Given the description of an element on the screen output the (x, y) to click on. 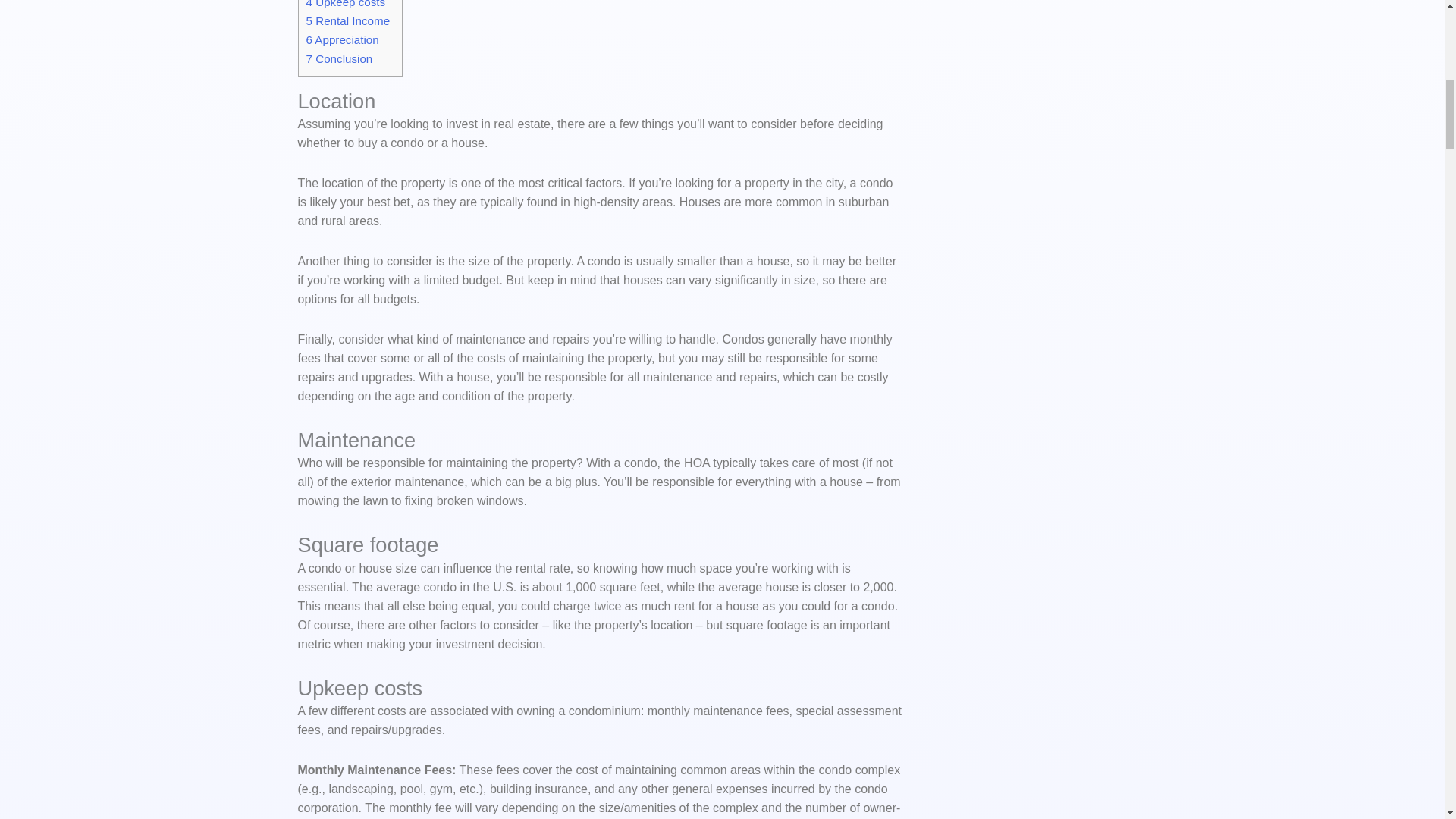
6 Appreciation (341, 39)
5 Rental Income (347, 20)
7 Conclusion (338, 58)
4 Upkeep costs (345, 4)
